Given the description of an element on the screen output the (x, y) to click on. 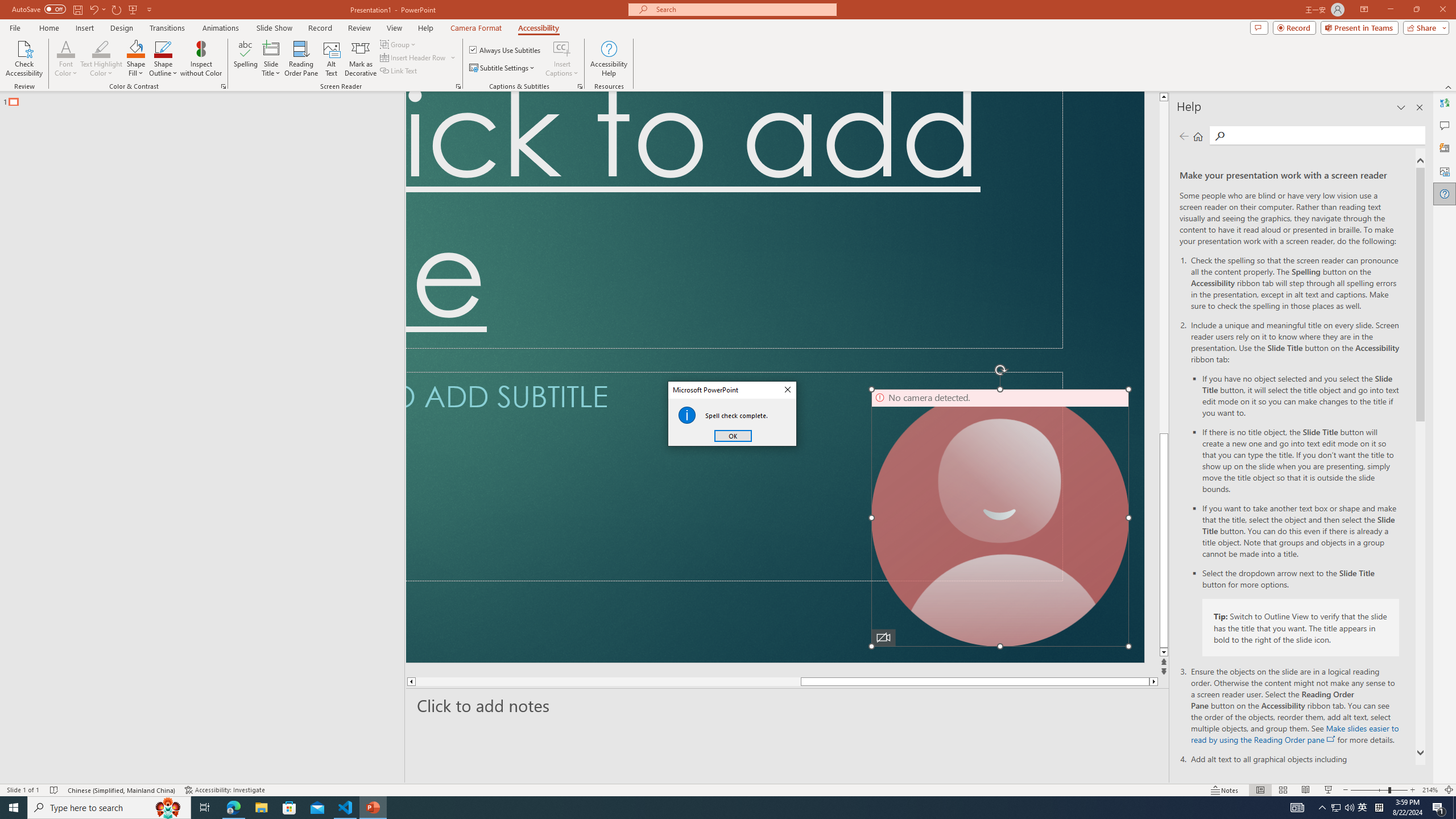
Export (59, 536)
Line up (1448, 78)
AutomationID: BadgeAnchorLargeTicker (26, 800)
